Given the description of an element on the screen output the (x, y) to click on. 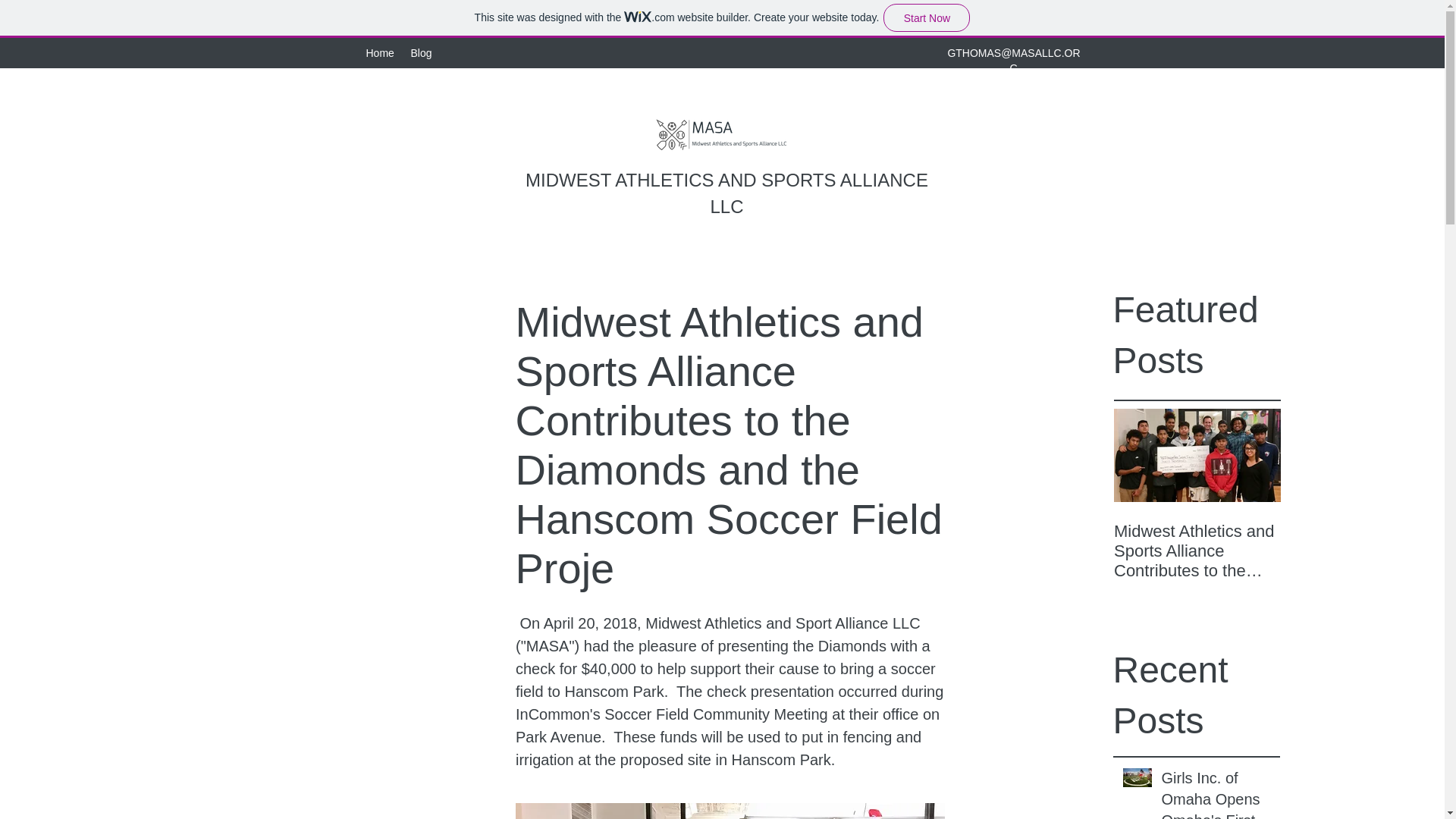
Home (380, 52)
Blog (422, 52)
